Given the description of an element on the screen output the (x, y) to click on. 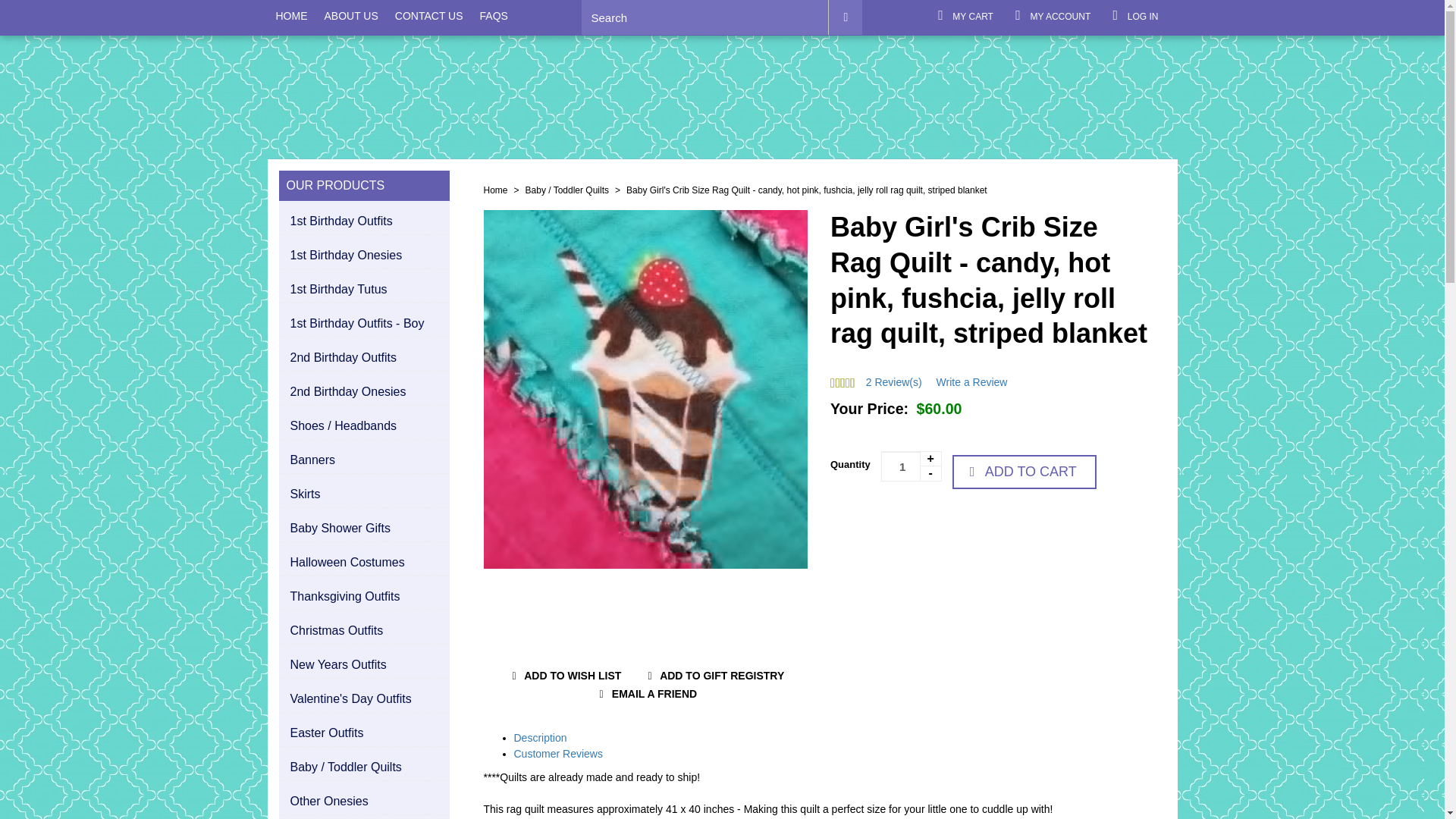
Skirts (365, 494)
ABOUT US (350, 15)
1 (911, 466)
1st Birthday Outfits (365, 221)
1st Birthday Onesies (365, 255)
Thanksgiving Outfits (365, 597)
2nd Birthday Outfits (365, 357)
CONTACT US (429, 15)
Halloween Costumes (365, 562)
